Given the description of an element on the screen output the (x, y) to click on. 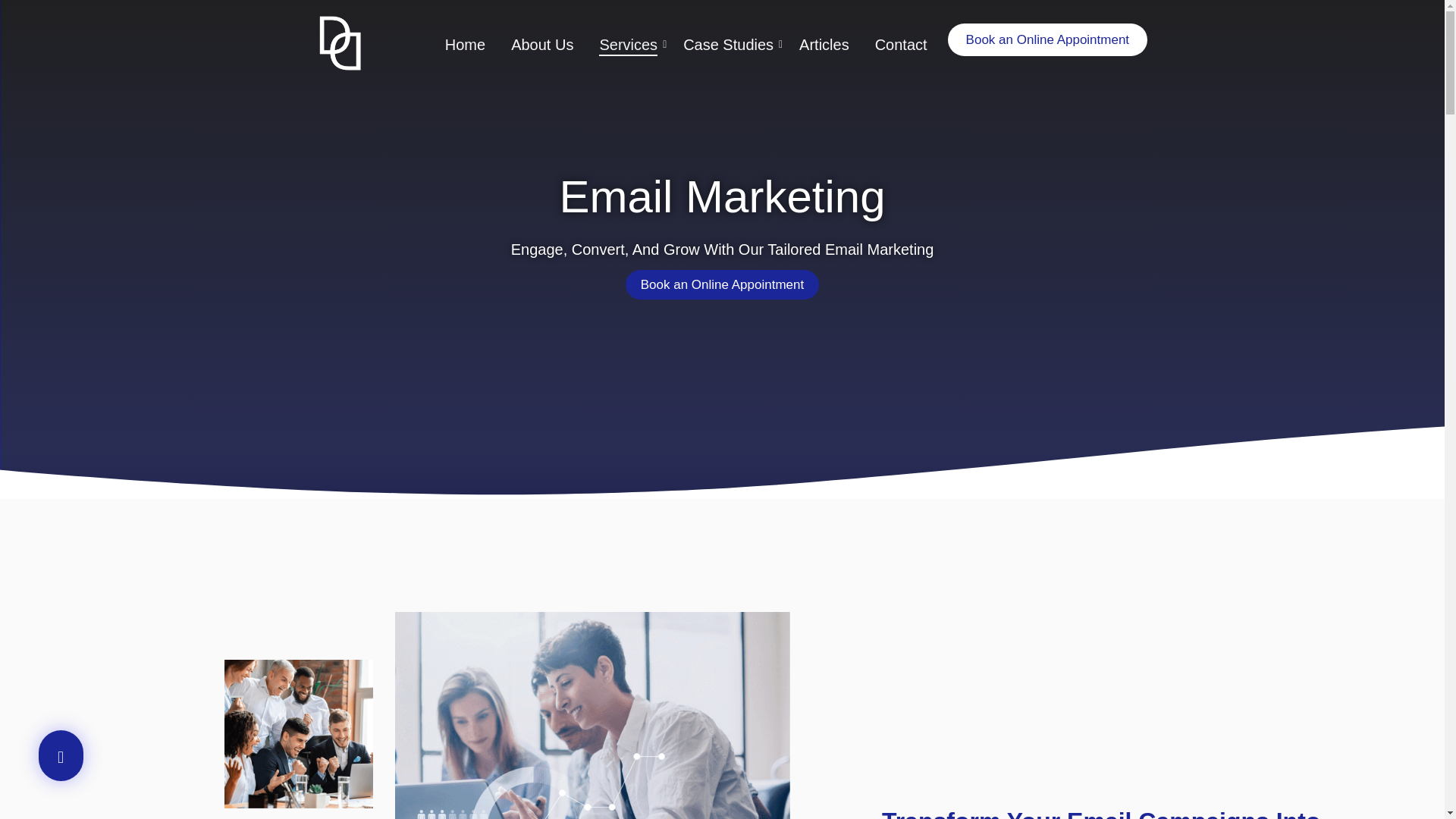
Home (464, 45)
Services (628, 45)
About Us (541, 45)
Articles (823, 45)
Book an Online Appointment (1047, 39)
Contact (901, 45)
Case Studies (728, 45)
Book an Online Appointment (722, 284)
